Given the description of an element on the screen output the (x, y) to click on. 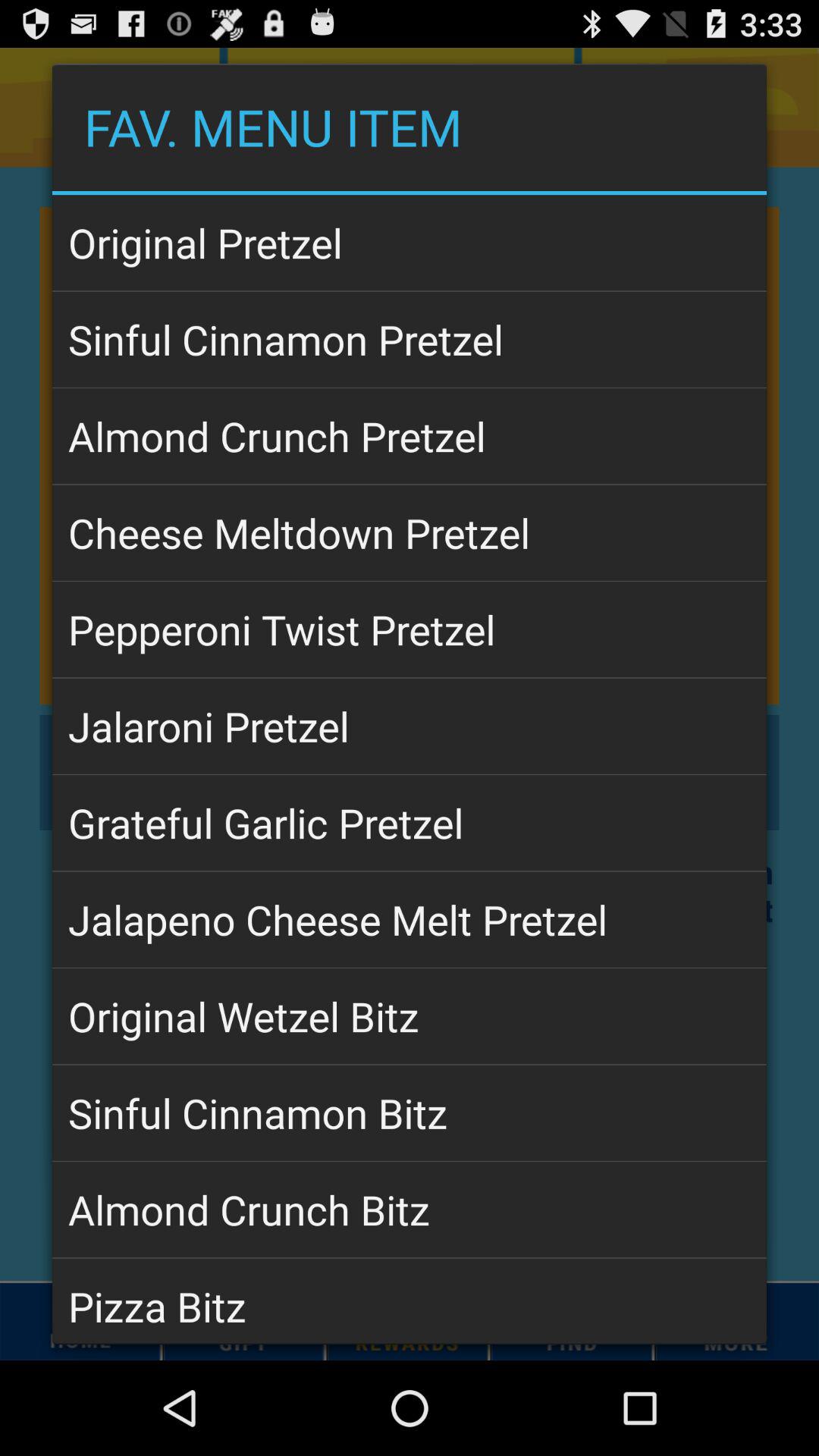
select app below jalapeno cheese melt (409, 1016)
